Given the description of an element on the screen output the (x, y) to click on. 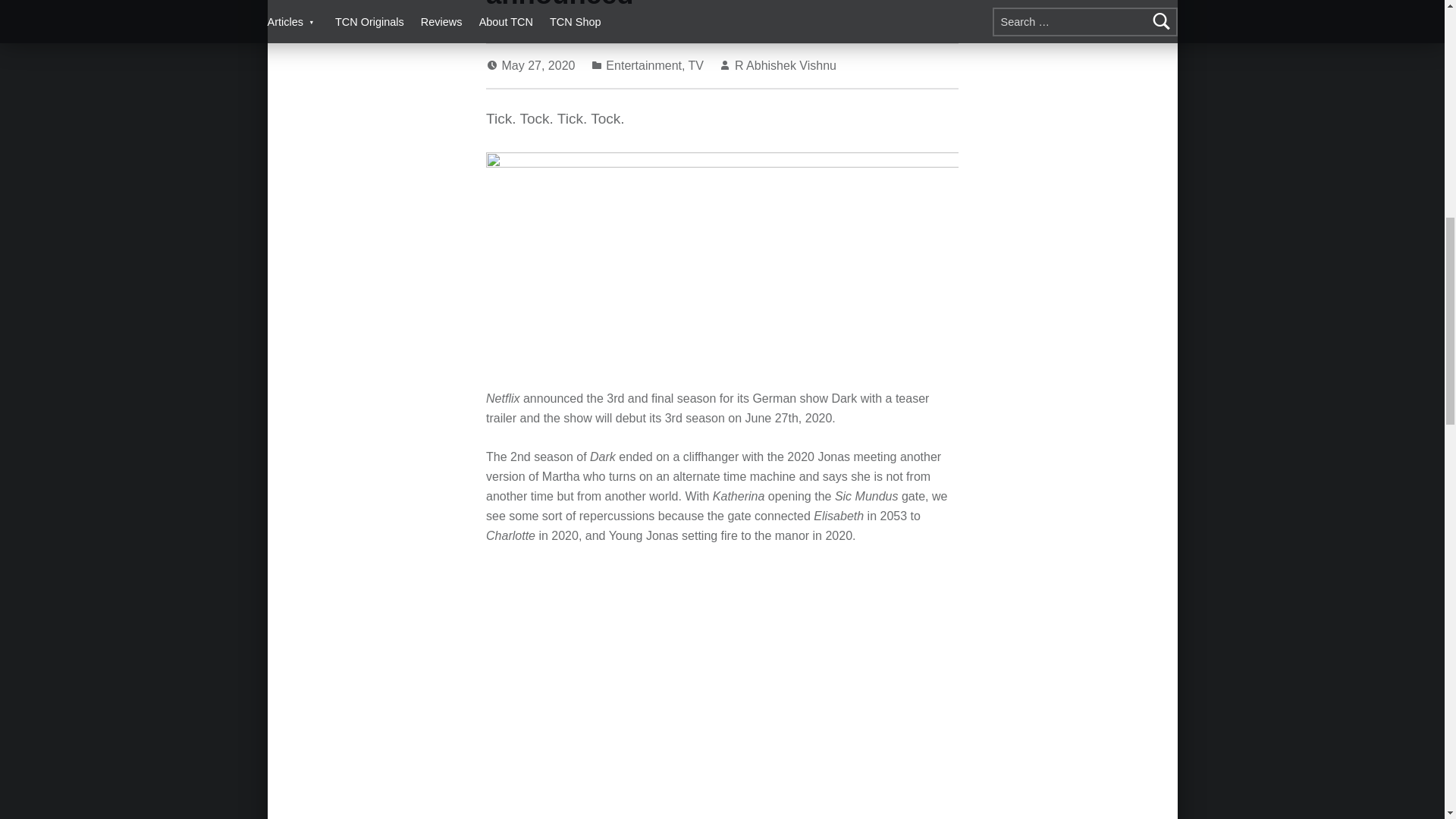
May 27, 2020 (540, 65)
Entertainment (643, 65)
Posted on: May 27, 2020 (540, 65)
R Abhishek Vishnu (785, 65)
TV (695, 65)
